Given the description of an element on the screen output the (x, y) to click on. 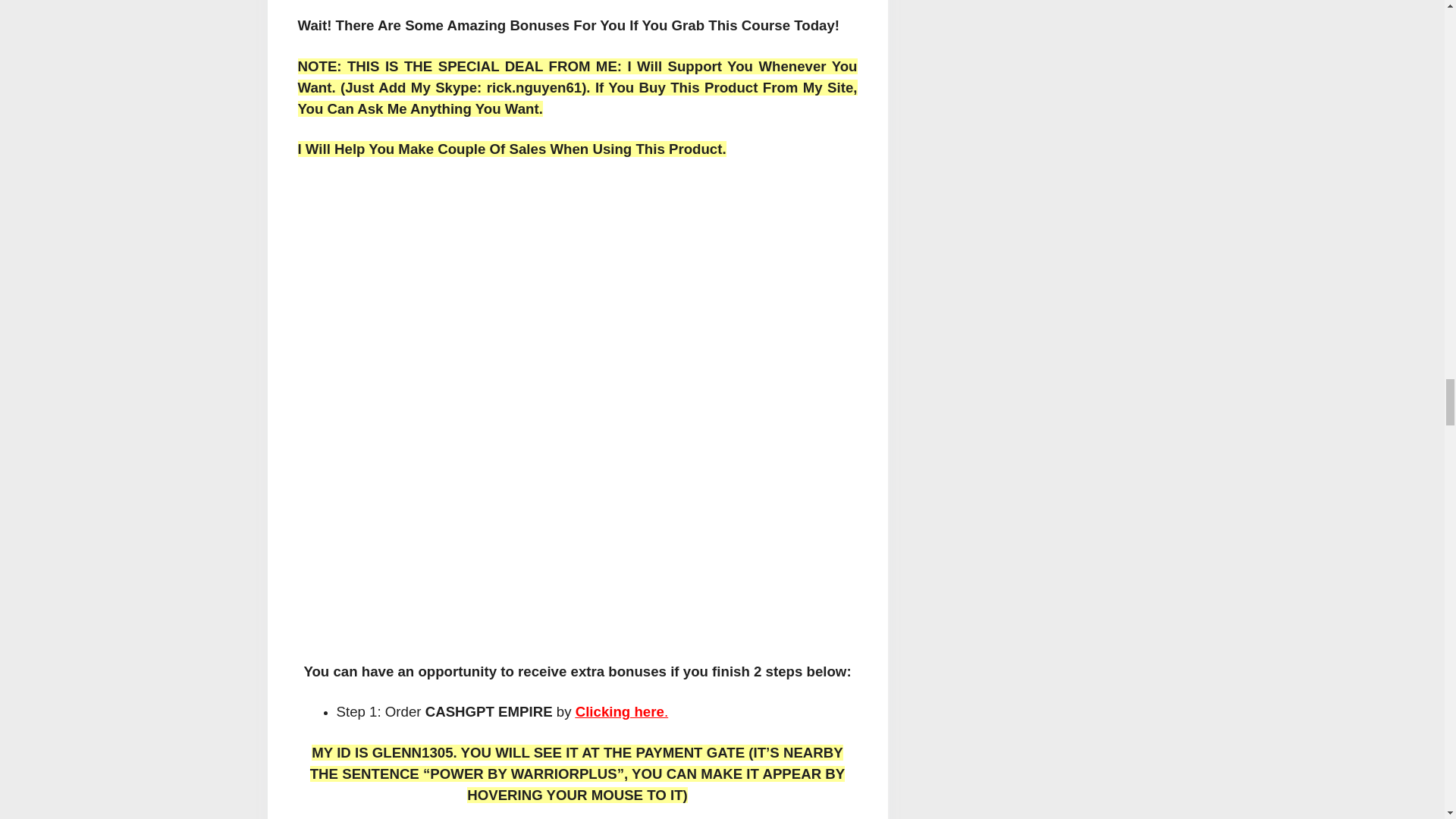
Clicking here. (621, 711)
